Given the description of an element on the screen output the (x, y) to click on. 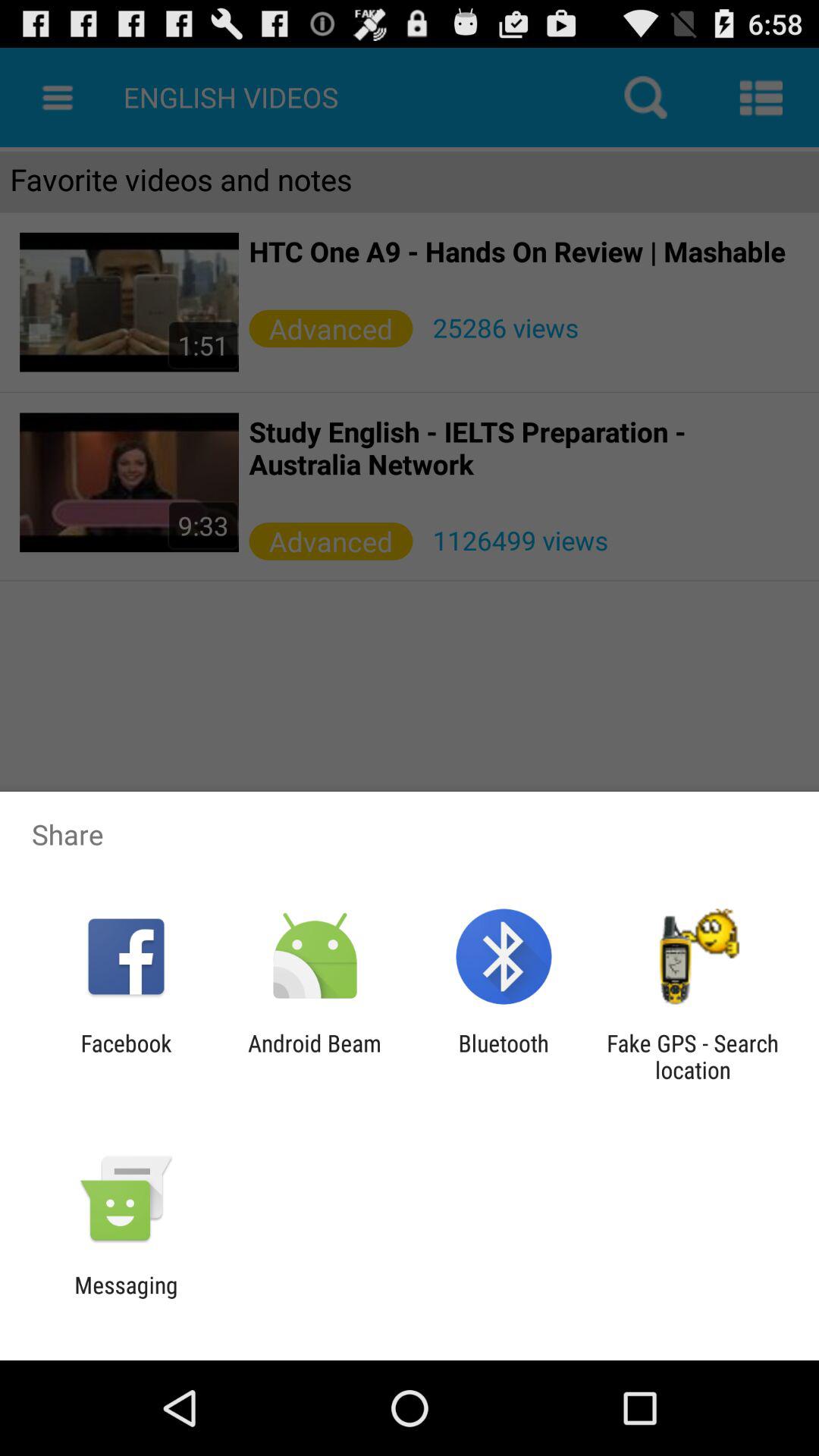
choose app next to the bluetooth icon (692, 1056)
